Given the description of an element on the screen output the (x, y) to click on. 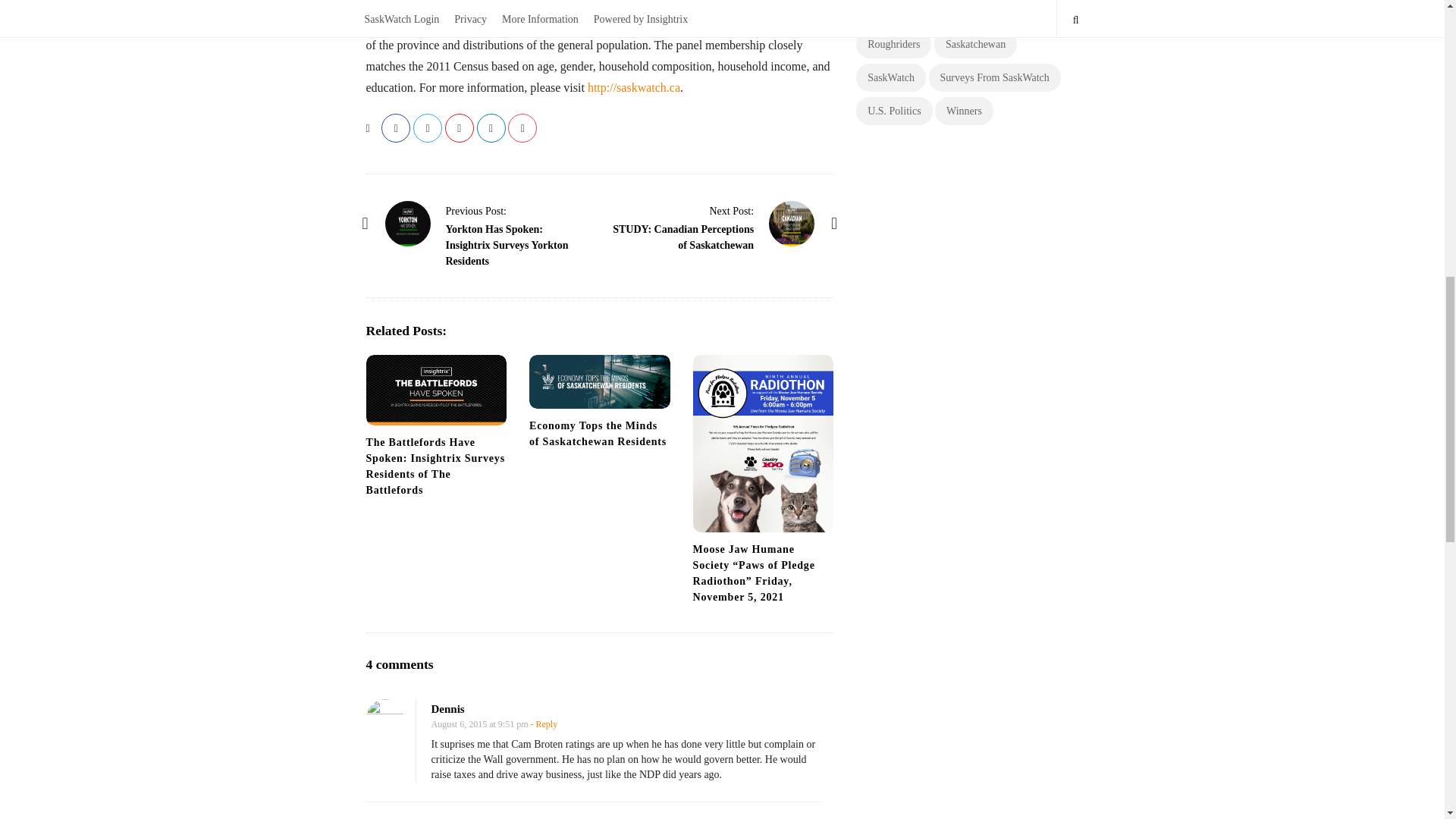
Yorkton Has Spoken: Insightrix Surveys Yorkton Residents (475, 210)
August 6, 2015 at 9:51 pm (478, 724)
Next Post: (731, 210)
Previous Post: (475, 210)
Economy Tops the Minds of Saskatchewan Residents (599, 381)
STUDY: Canadian Perceptions of Saskatchewan (790, 223)
Economy Tops the Minds of Saskatchewan Residents (597, 433)
